Given the description of an element on the screen output the (x, y) to click on. 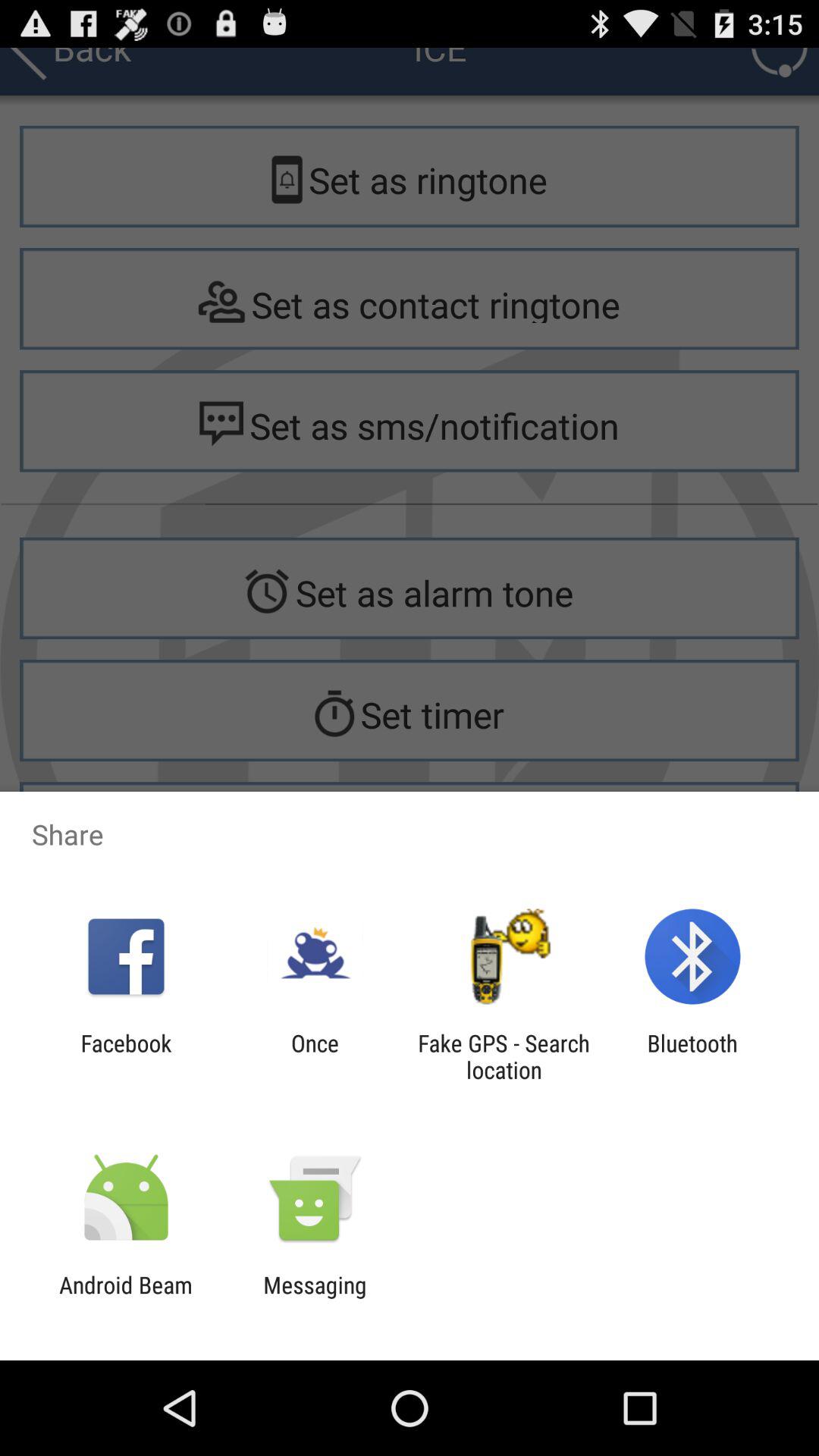
turn on app next to the once app (125, 1056)
